Given the description of an element on the screen output the (x, y) to click on. 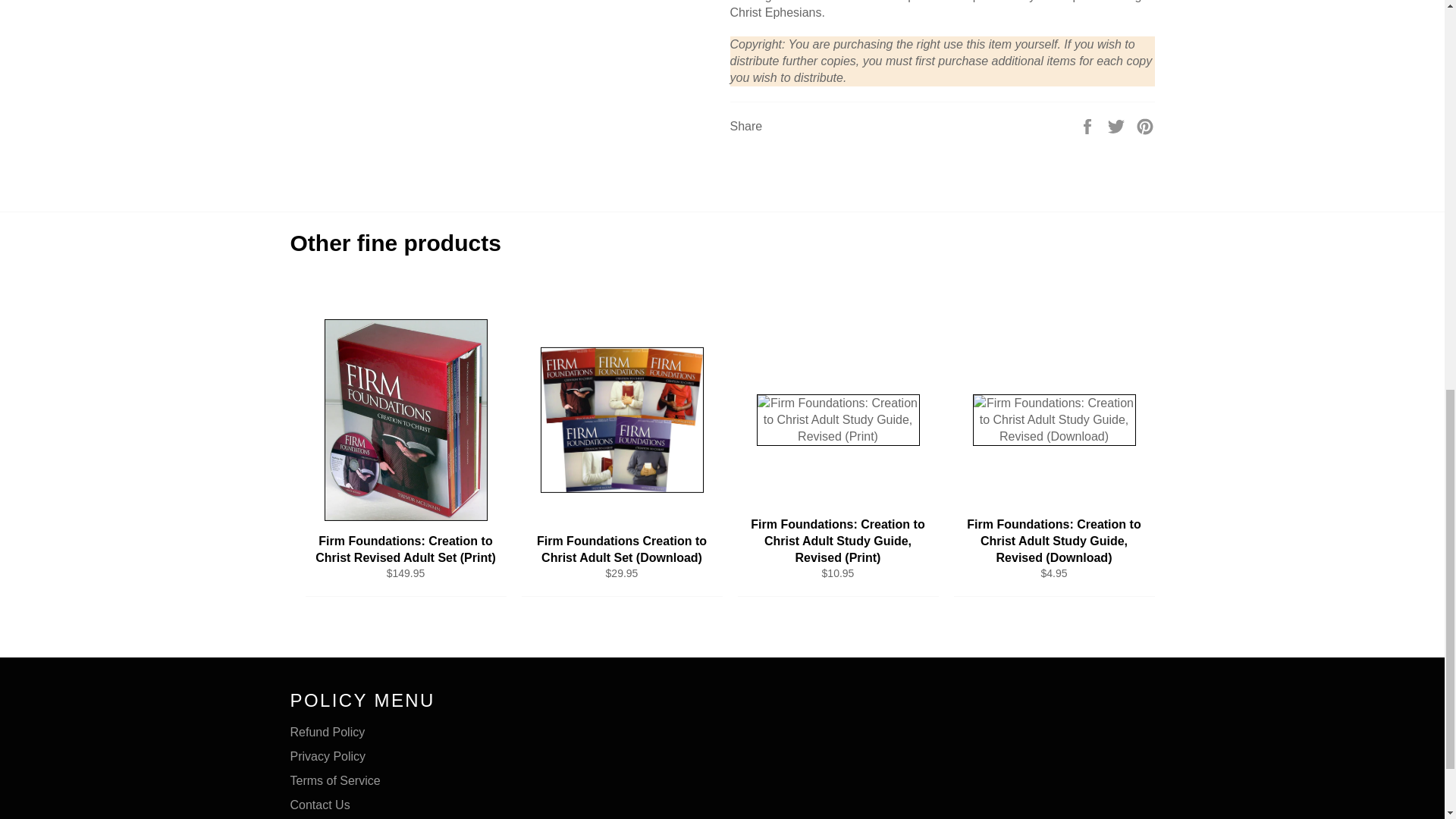
Tweet on Twitter (1117, 124)
Pin on Pinterest (1144, 124)
Share on Facebook (1088, 124)
